Given the description of an element on the screen output the (x, y) to click on. 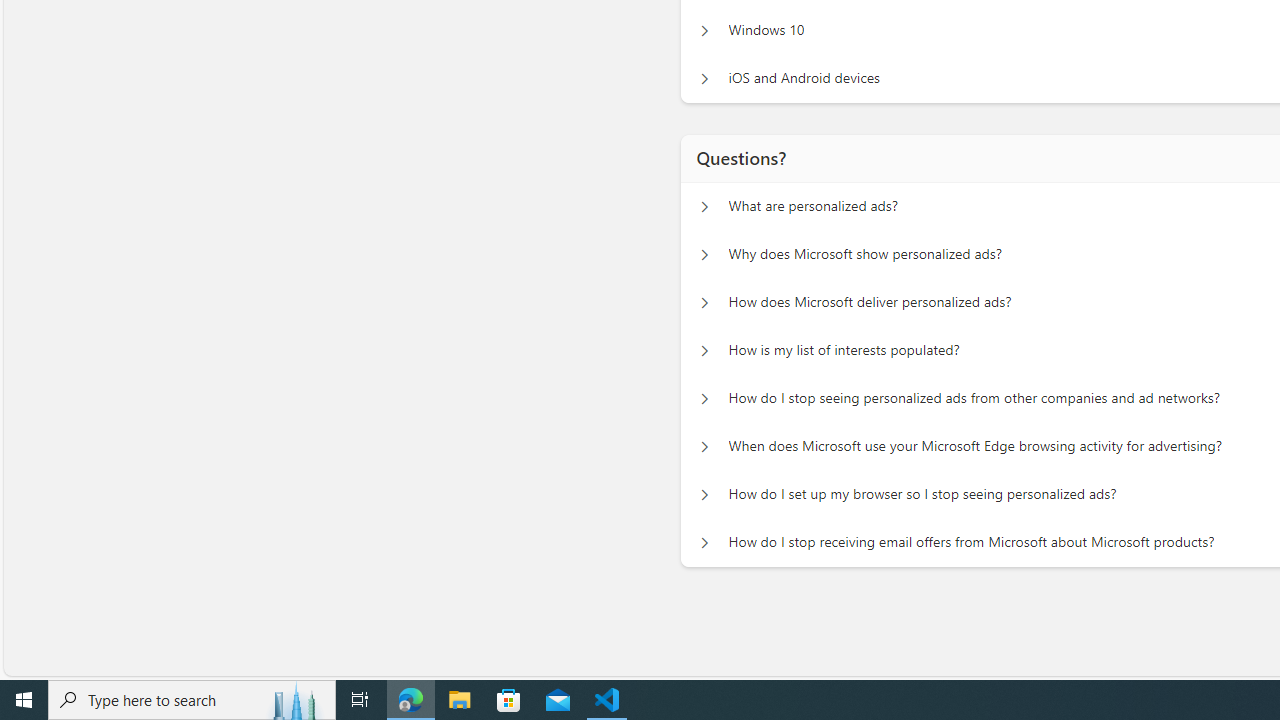
Manage personalized ads on your device Windows 10 (704, 30)
Questions? How is my list of interests populated? (704, 350)
Questions? What are personalized ads? (704, 206)
Questions? How does Microsoft deliver personalized ads? (704, 302)
Questions? Why does Microsoft show personalized ads? (704, 255)
